Given the description of an element on the screen output the (x, y) to click on. 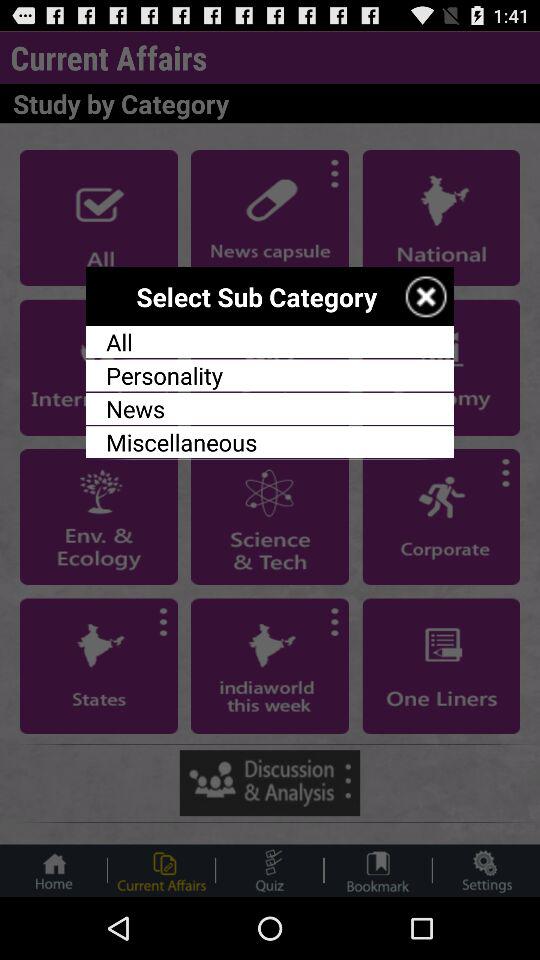
press the personality item (269, 375)
